Given the description of an element on the screen output the (x, y) to click on. 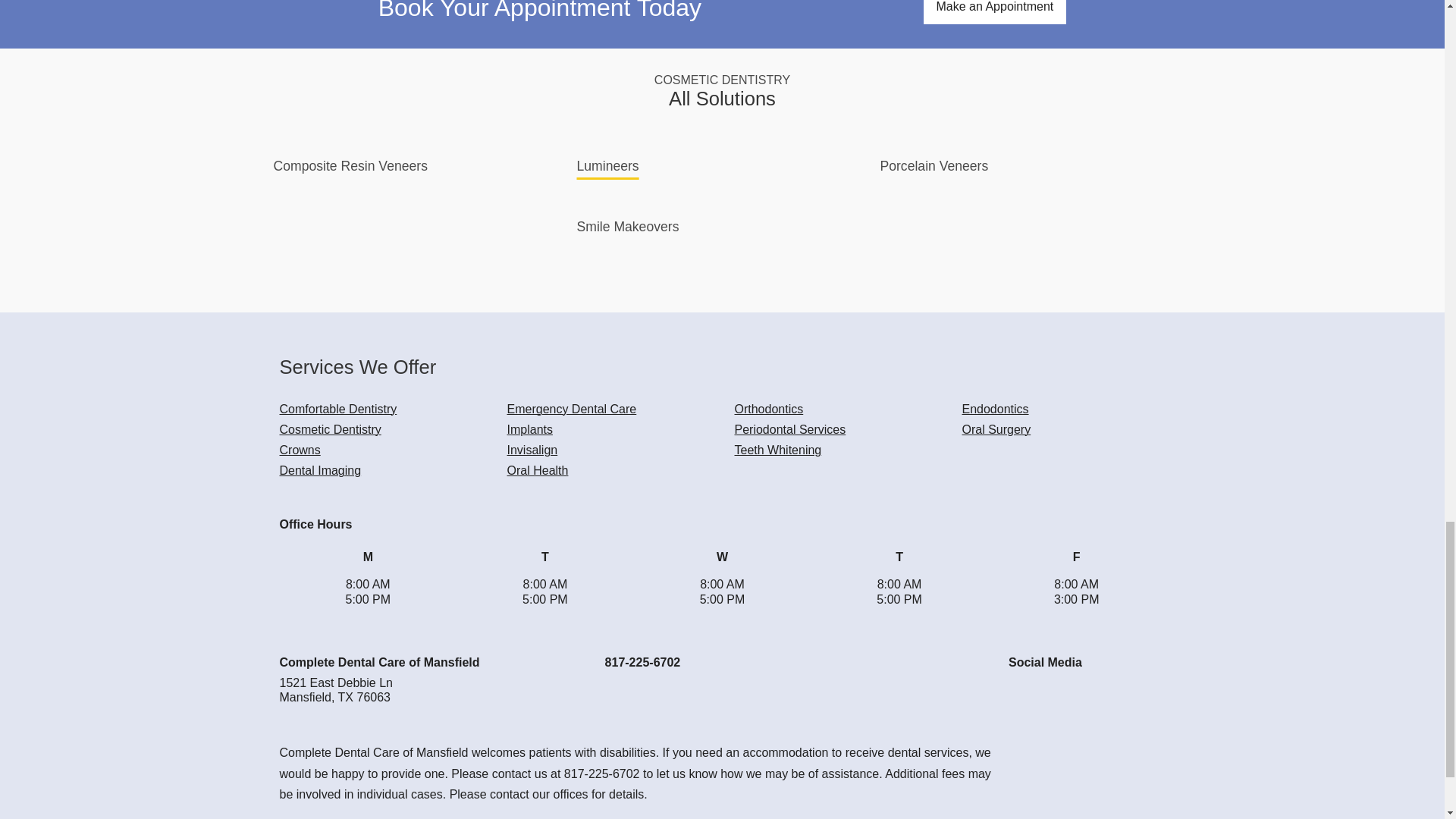
Orthodontics (768, 408)
Facebook (1020, 695)
Periodontal Services (789, 429)
Implants (528, 429)
Lumineers (607, 165)
Comfortable Dentistry (337, 408)
Crowns (299, 449)
Cosmetic Dentistry (329, 429)
Teeth Whitening (777, 449)
Endodontics (993, 408)
817-225-6702 (643, 662)
Dental Imaging (320, 470)
Make an Appointment (995, 12)
Invisalign (531, 449)
Smile Makeovers (627, 226)
